Given the description of an element on the screen output the (x, y) to click on. 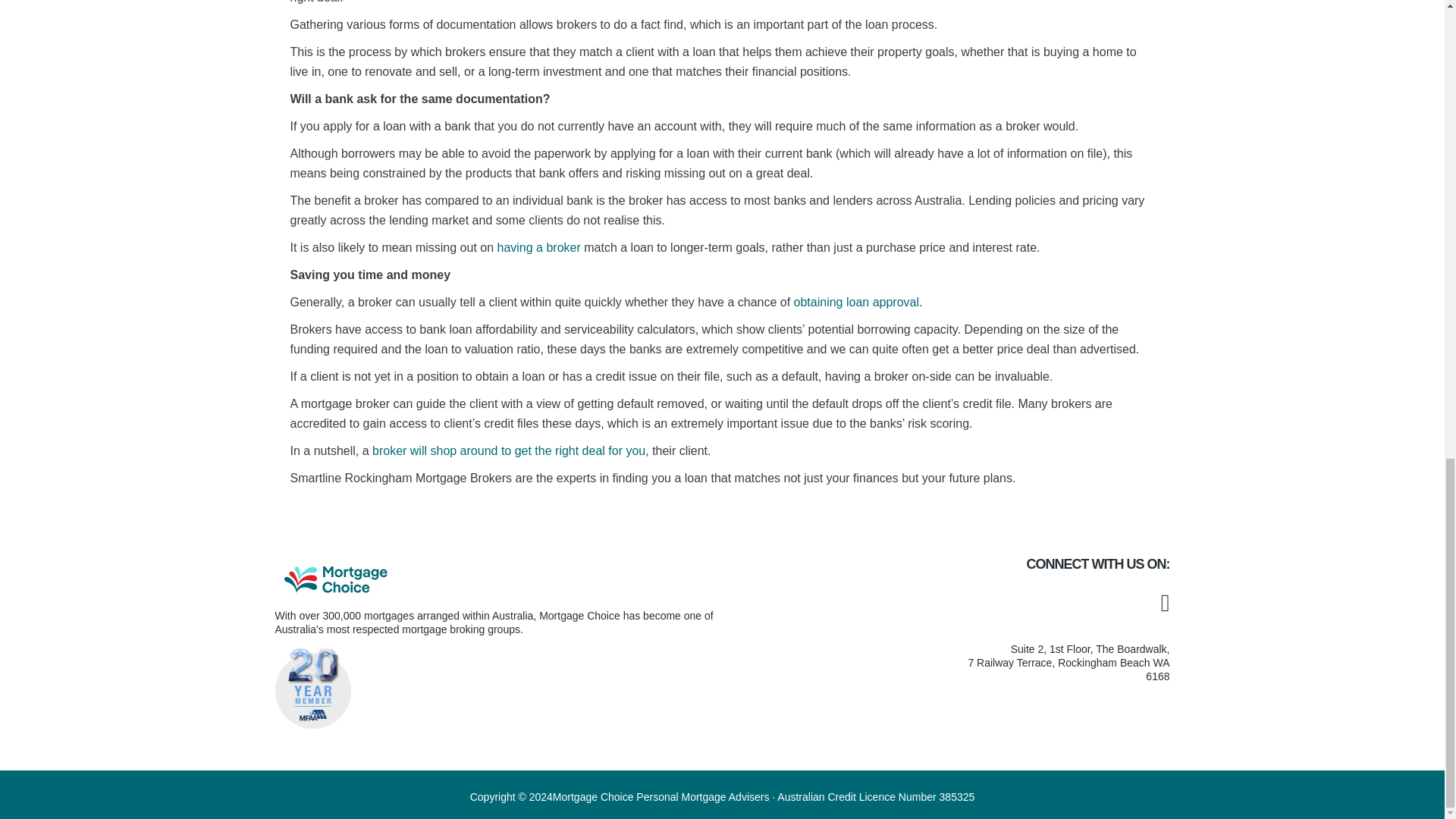
obtaining loan approval (855, 301)
broker will shop around to get the right deal for you (508, 450)
having a broker (538, 246)
